Given the description of an element on the screen output the (x, y) to click on. 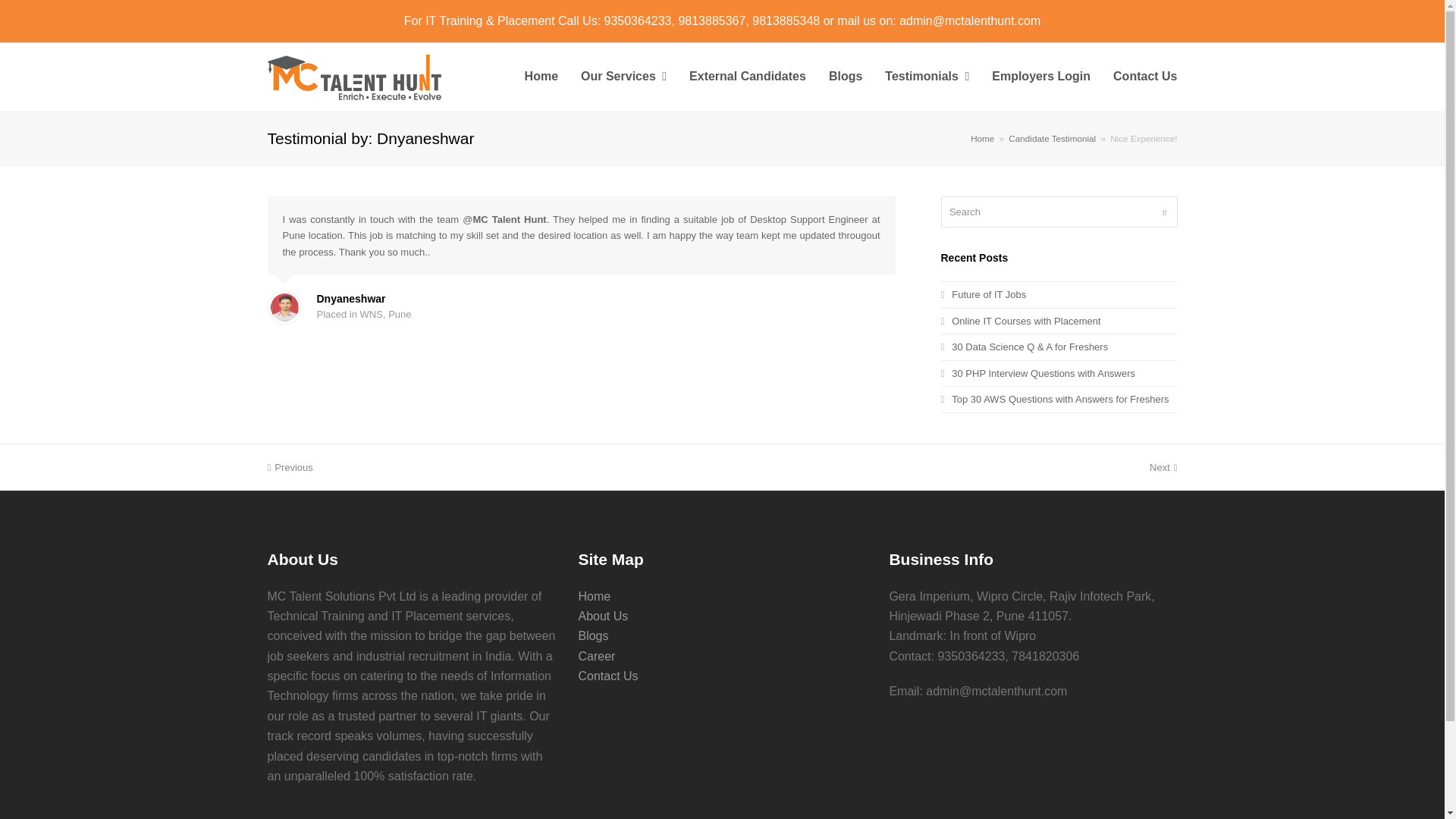
Employers Login (1040, 77)
30 PHP Interview Questions with Answers (1037, 373)
Home (541, 77)
Future of IT Jobs (983, 294)
Contact Us (1145, 77)
External Candidates (747, 77)
Candidate Testimonial (1052, 138)
Online IT Courses with Placement (1020, 320)
Blogs (844, 77)
Testimonials (926, 77)
Home (982, 138)
Our Services (623, 77)
